Given the description of an element on the screen output the (x, y) to click on. 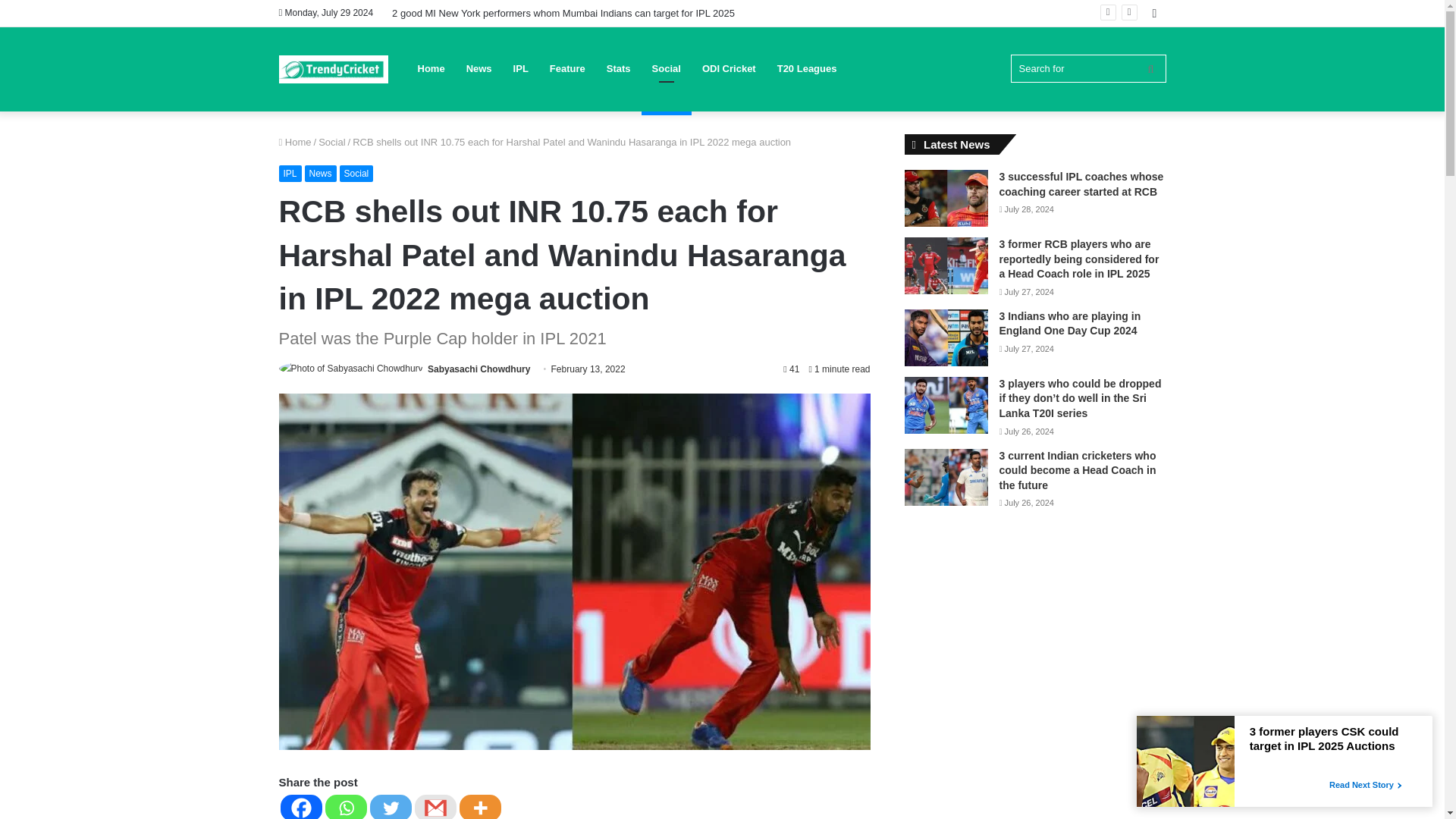
More (480, 806)
IPL (290, 173)
T20 Leagues (807, 68)
Home (295, 142)
Sabyasachi Chowdhury (478, 368)
Whatsapp (345, 806)
News (320, 173)
Search for (1088, 68)
Social (331, 142)
Twitter (390, 806)
Facebook (301, 806)
Social (356, 173)
Sabyasachi Chowdhury (478, 368)
Google Gmail (434, 806)
